Given the description of an element on the screen output the (x, y) to click on. 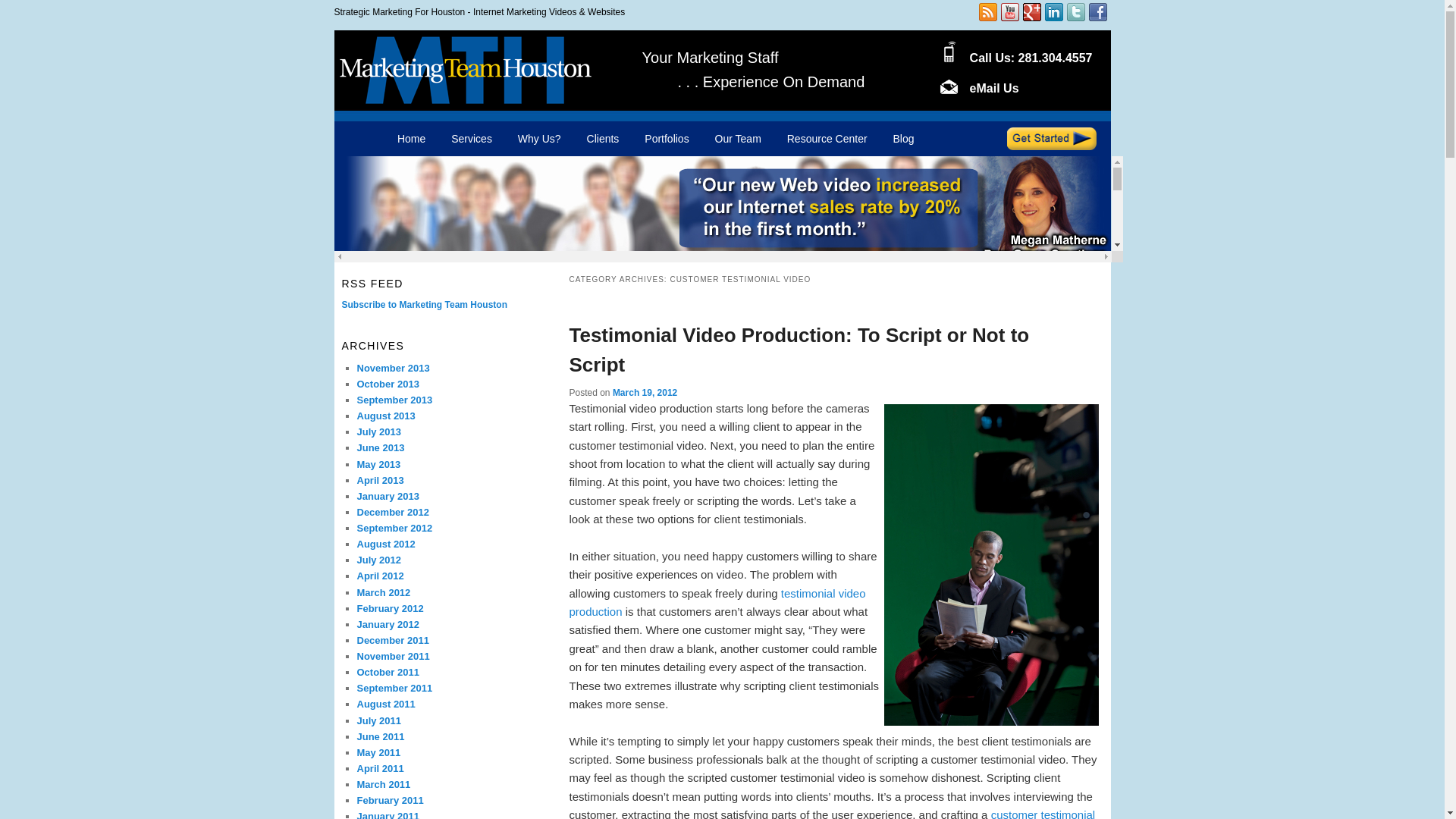
testimonial video production (716, 602)
customer testimonial video (831, 813)
Skip to secondary content (472, 139)
Why Us? (539, 139)
Skip to secondary content (472, 139)
Portfolios (666, 139)
Skip to primary content (465, 139)
Home (411, 139)
Skip to primary content (465, 139)
5:00 pm (644, 392)
eMail Us (994, 88)
Clients (602, 139)
Services (471, 139)
